Given the description of an element on the screen output the (x, y) to click on. 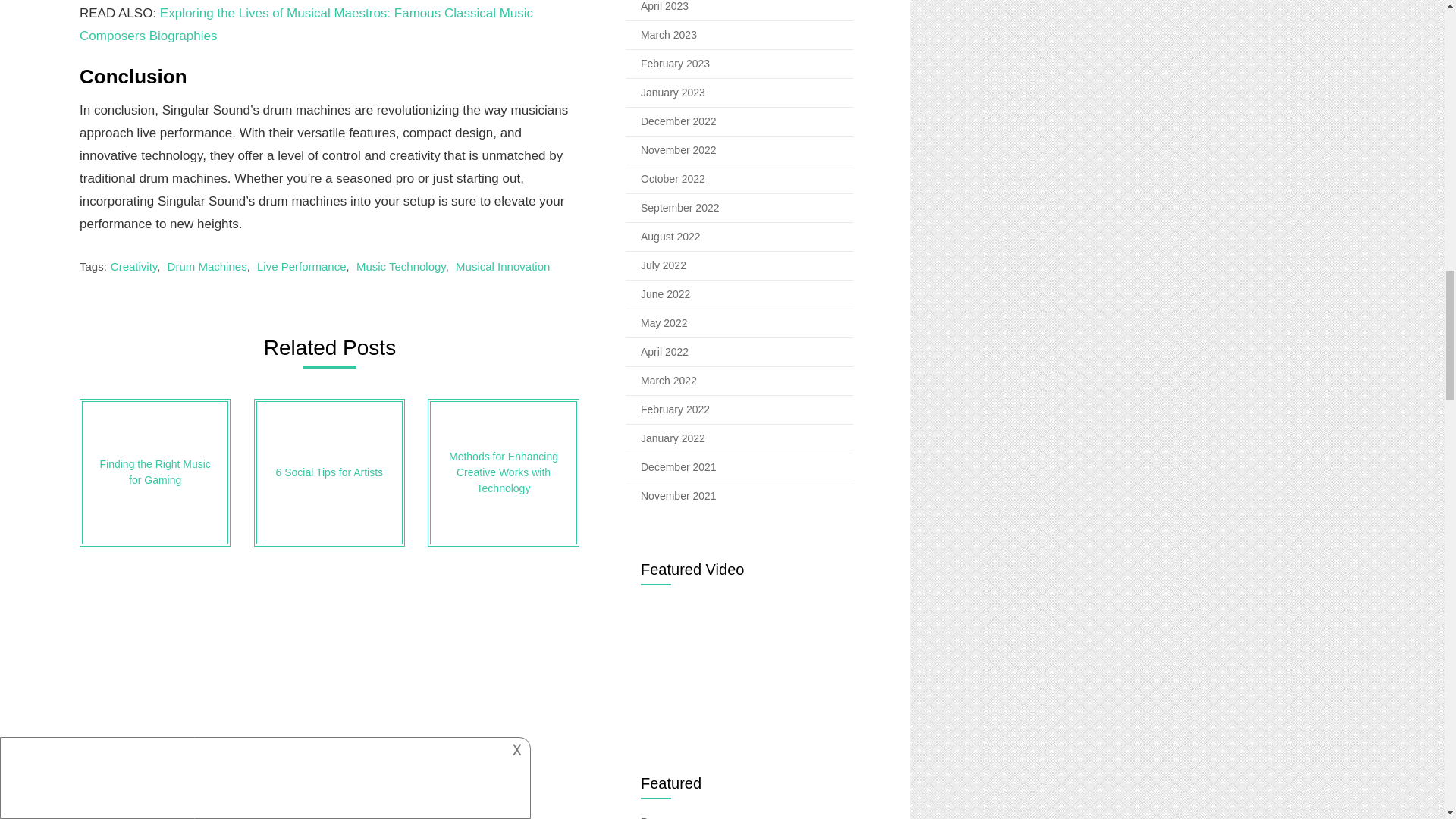
Finding the Right Music for Gaming (155, 472)
YouTube video player (739, 665)
Live Performance (301, 266)
Drum Machines (207, 266)
Methods for Enhancing Creative Works with Technology (503, 472)
6 Social Tips for Artists (328, 472)
Finding the Right Music for Gaming (155, 472)
Music Technology (400, 266)
6 Social Tips for Artists (328, 472)
Methods for Enhancing Creative Works with Technology (503, 472)
Musical Innovation (502, 266)
Creativity (133, 266)
